Given the description of an element on the screen output the (x, y) to click on. 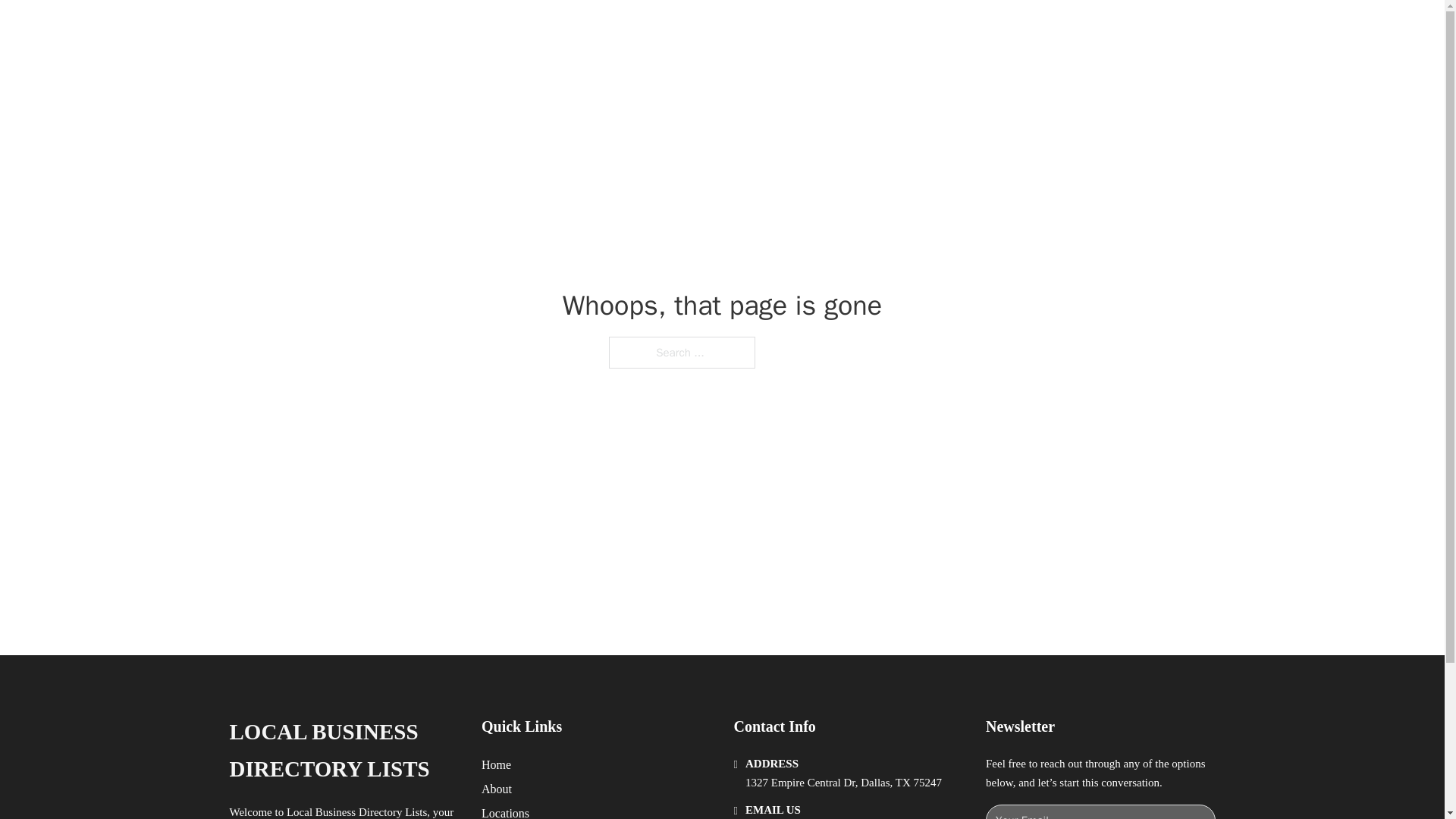
Locations (505, 811)
Home (496, 764)
LOCAL BUSINESS DIRECTORY LISTS (482, 28)
HOME (919, 29)
LOCAL BUSINESS DIRECTORY LISTS (343, 750)
LOCATIONS (990, 29)
About (496, 788)
